Given the description of an element on the screen output the (x, y) to click on. 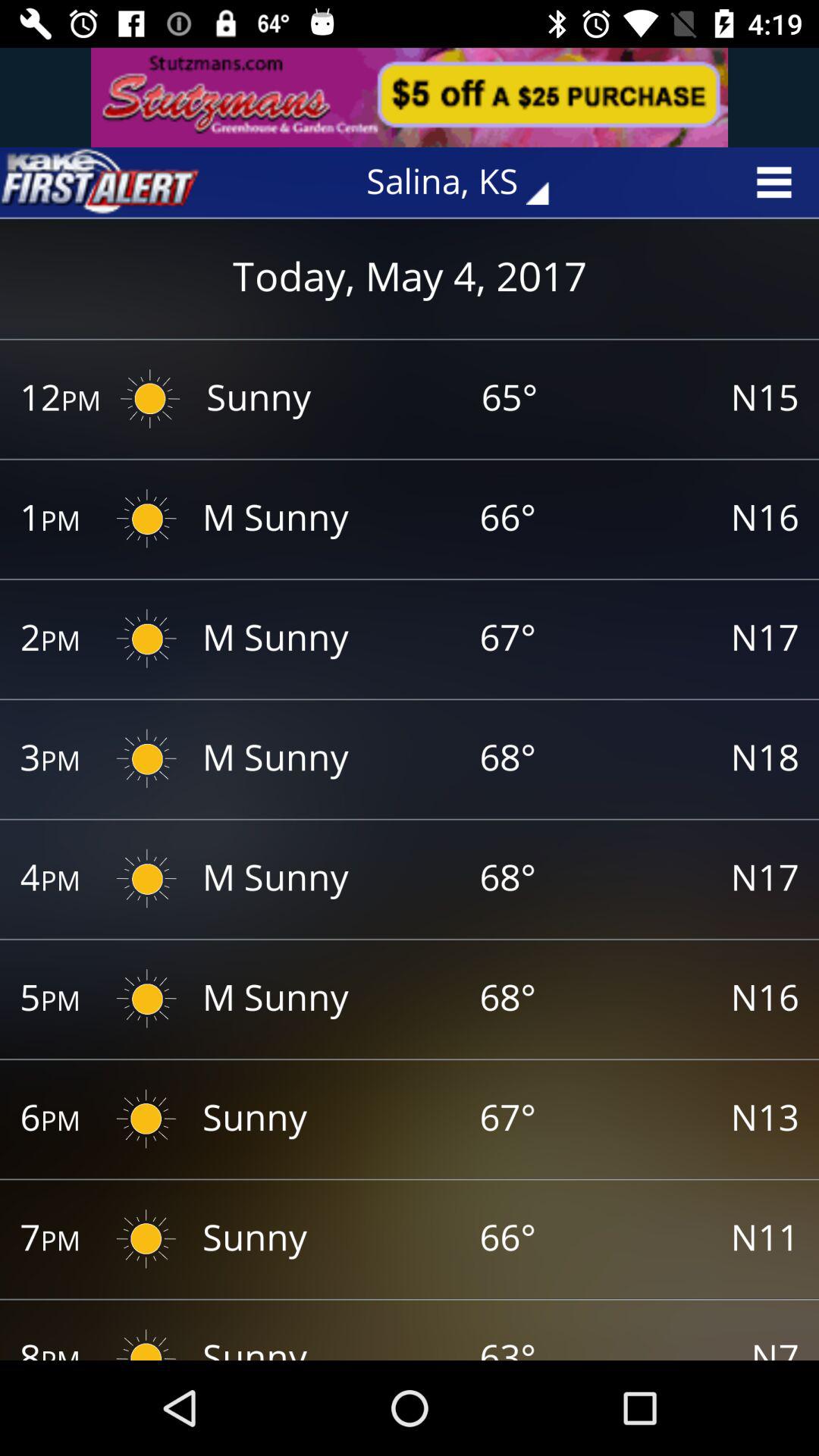
advertisement (409, 97)
